Given the description of an element on the screen output the (x, y) to click on. 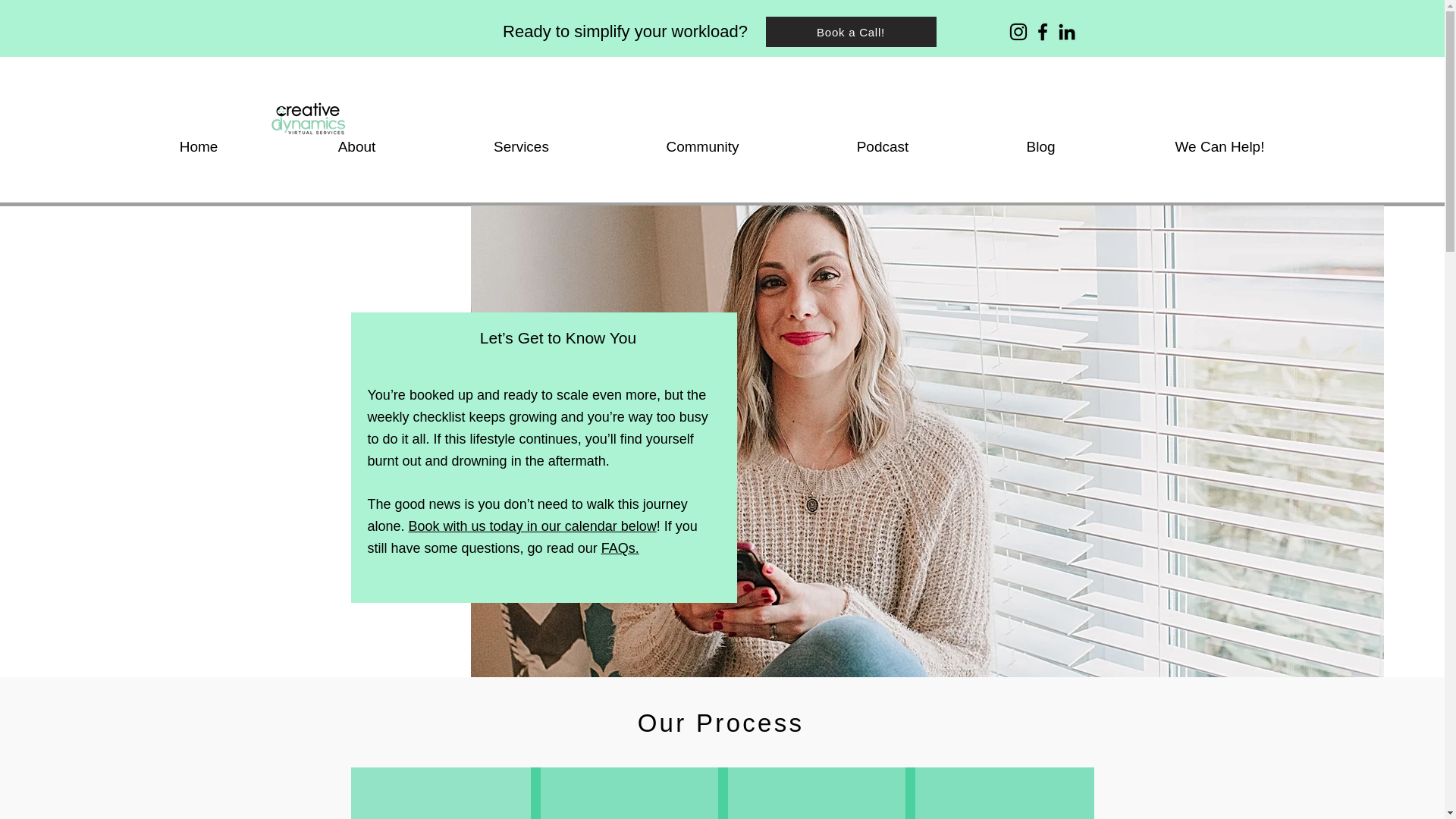
Home (198, 146)
Podcast (881, 146)
About (356, 146)
Services (521, 146)
02 (629, 811)
04 (1004, 811)
Book a Call! (850, 31)
FAQs. (620, 548)
We Can Help! (1219, 146)
Book with us today in our calendar below (532, 525)
Creative Dynamics Virtual Services Logo (308, 114)
03 (816, 811)
Blog (1040, 146)
Community (702, 146)
